Given the description of an element on the screen output the (x, y) to click on. 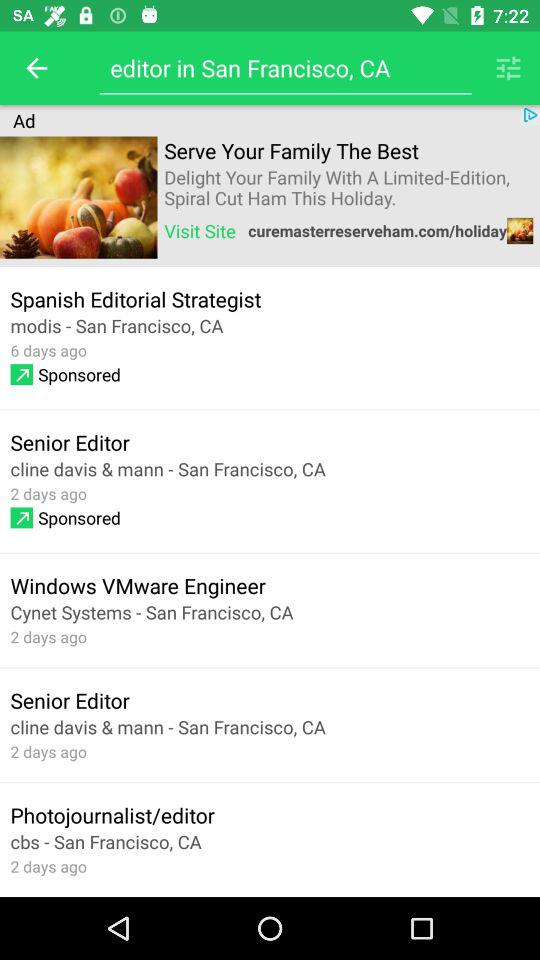
select item to the right of the editor in san (508, 67)
